Given the description of an element on the screen output the (x, y) to click on. 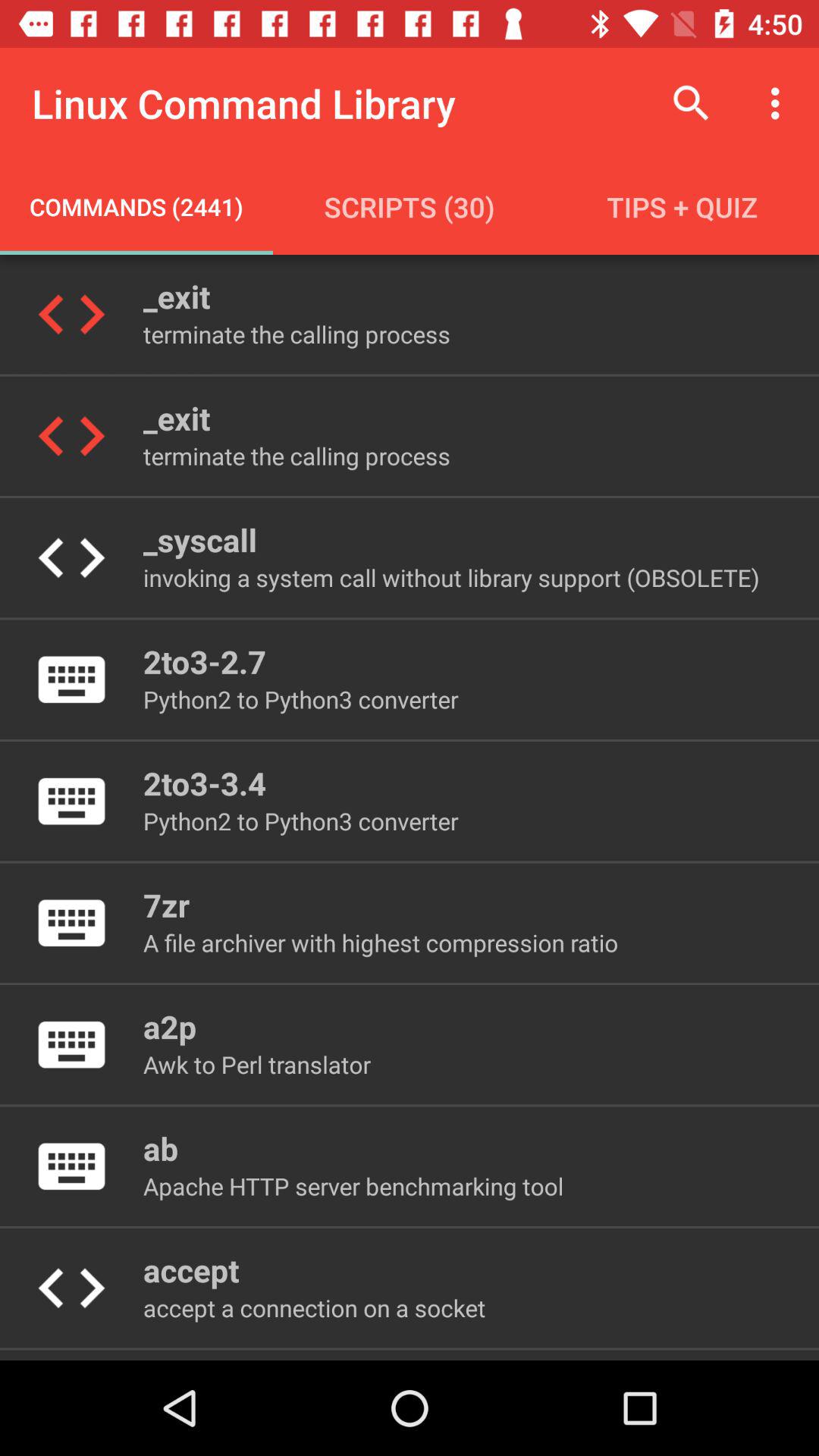
turn off icon next to the linux command library item (691, 103)
